Given the description of an element on the screen output the (x, y) to click on. 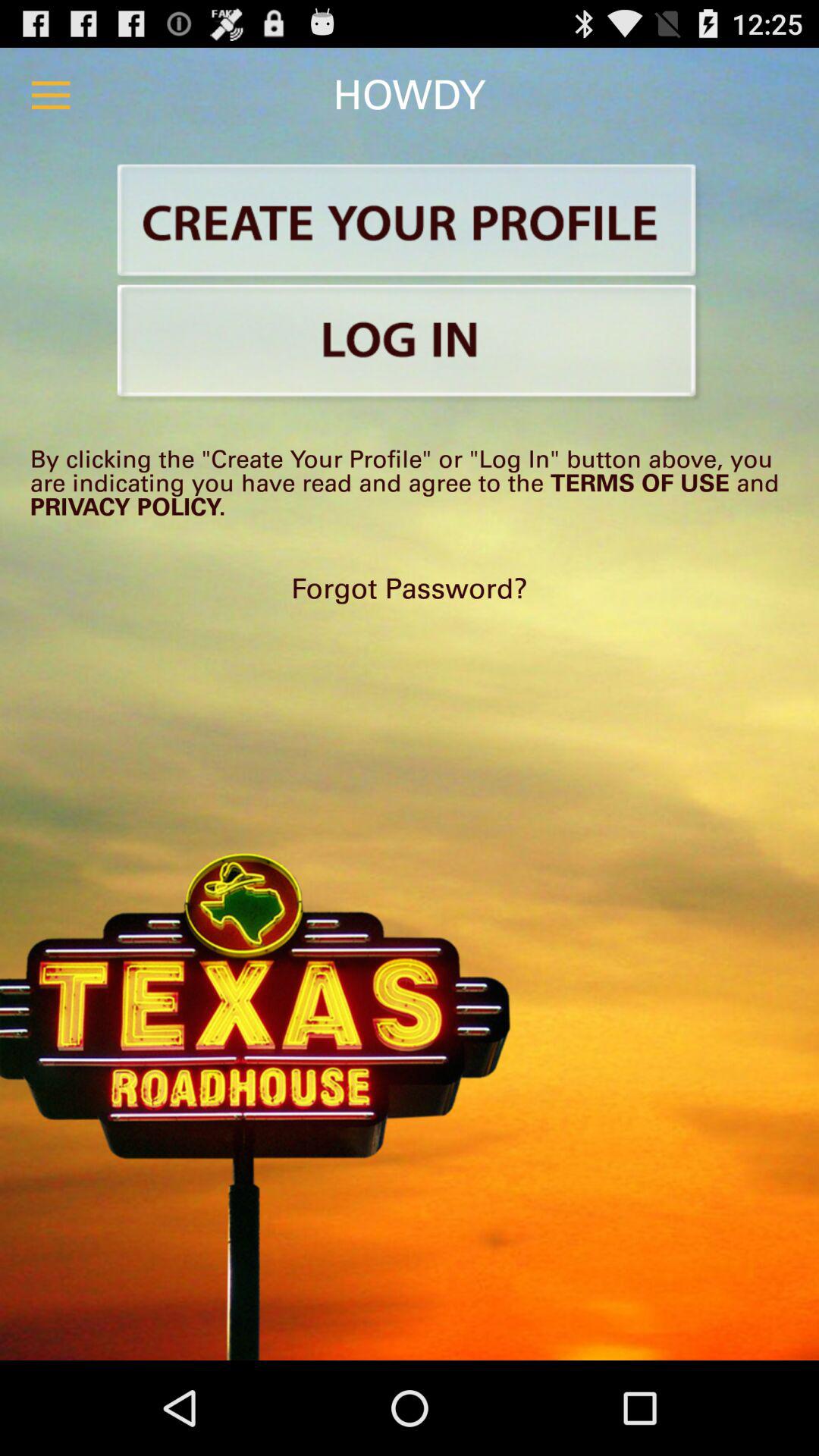
flip until by clicking the icon (409, 482)
